Given the description of an element on the screen output the (x, y) to click on. 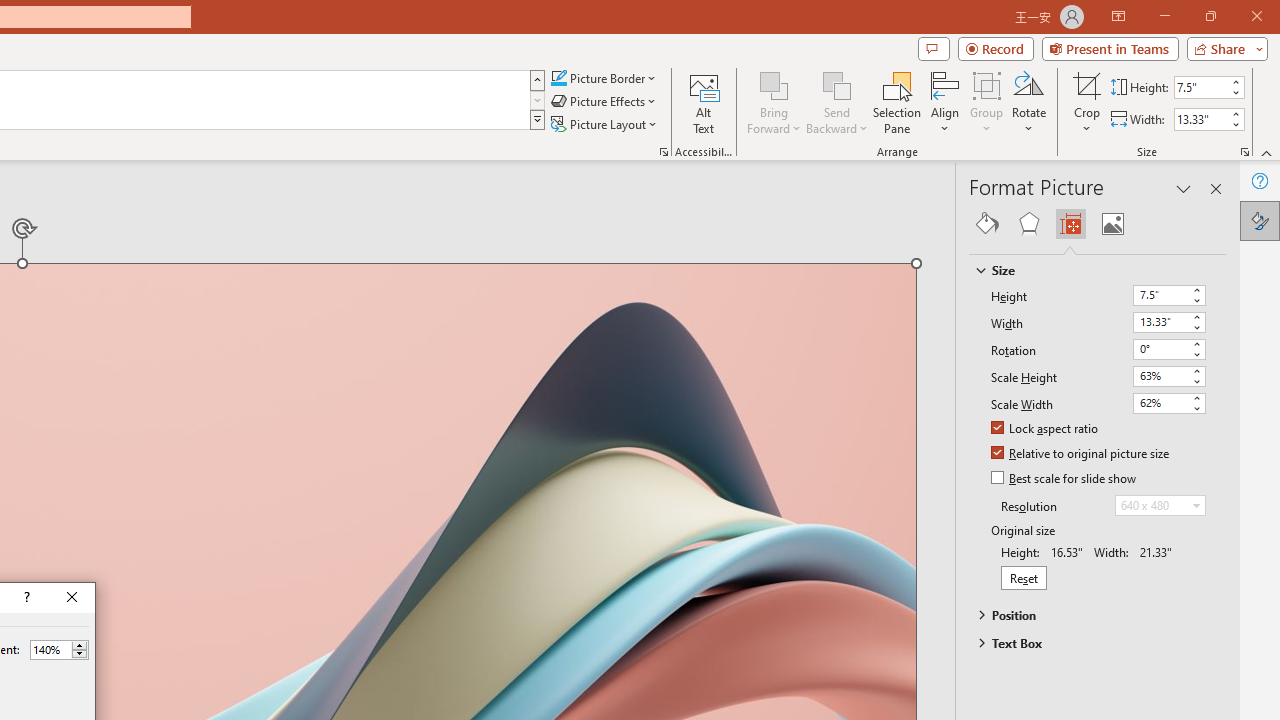
Height (1168, 295)
Crop (1087, 84)
Size (1088, 269)
Picture (1112, 223)
Rotation (1168, 349)
Height (1160, 294)
Send Backward (836, 102)
Shape Width (1201, 119)
